Given the description of an element on the screen output the (x, y) to click on. 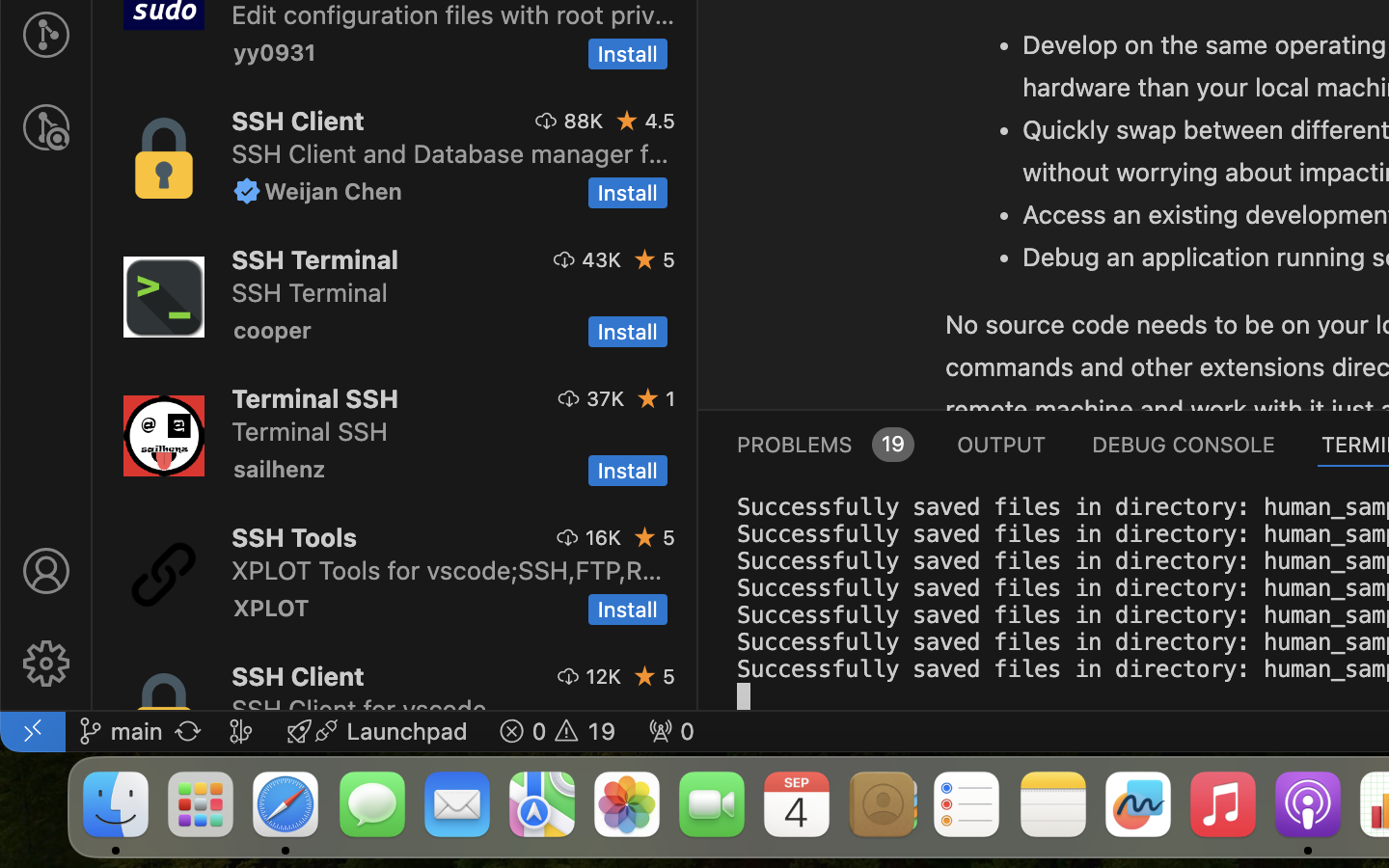
Edit configuration files with root privileges while using the Remote - SSH extension Element type: AXStaticText (453, 14)
 Element type: AXStaticText (46, 663)
Terminal SSH Element type: AXStaticText (315, 397)
Weijan Chen Element type: AXStaticText (333, 190)
 0 Element type: AXButton (671, 730)
